Given the description of an element on the screen output the (x, y) to click on. 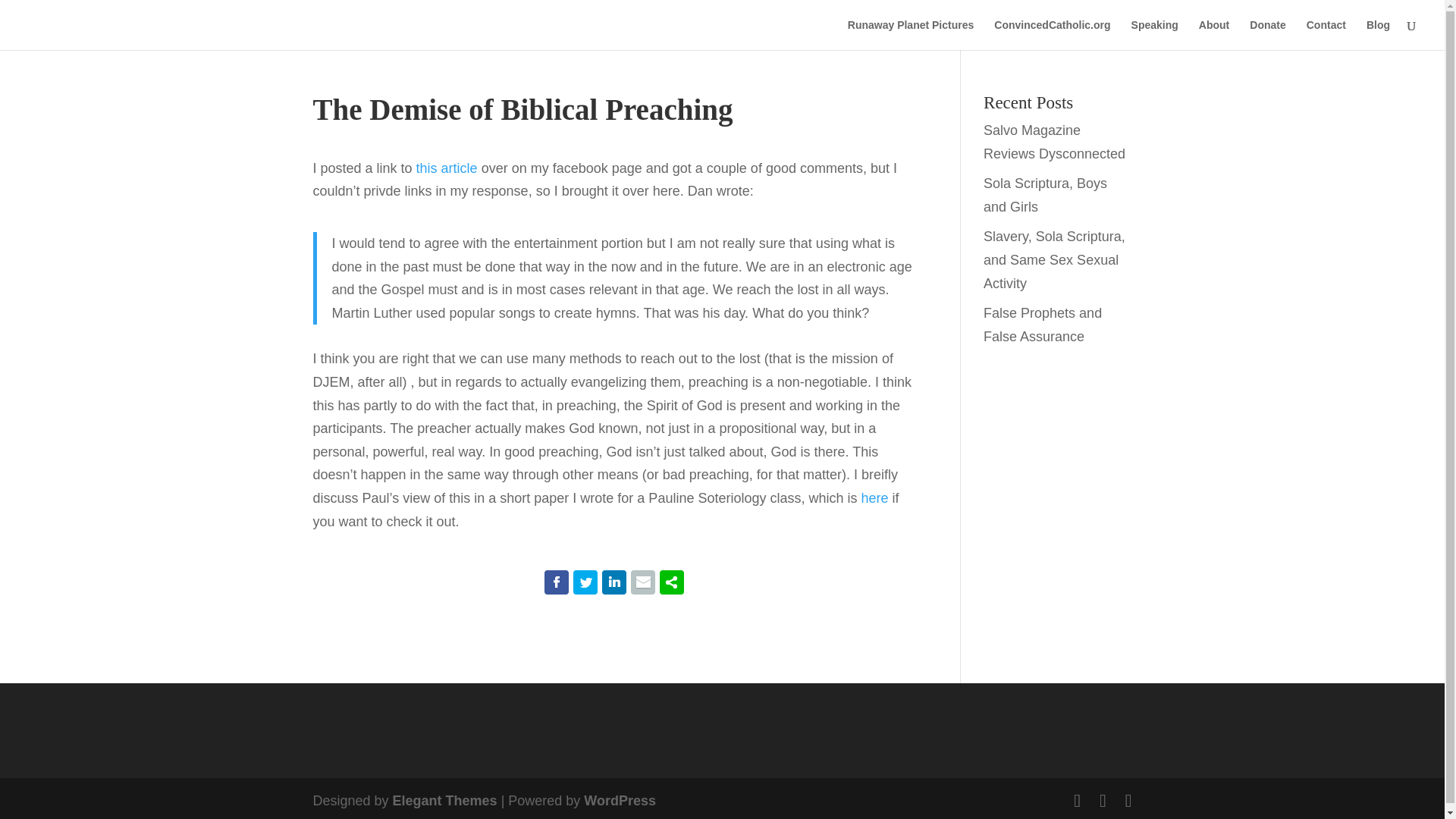
Salvo Magazine Reviews Dysconnected (1054, 141)
Elegant Themes (445, 800)
here (874, 498)
Runaway Planet Pictures (910, 34)
Contact (1325, 34)
WordPress (619, 800)
False Prophets and False Assurance (1043, 324)
About (1213, 34)
Sola Scriptura, Boys and Girls (1045, 195)
Donate (1267, 34)
Speaking (1154, 34)
ConvincedCatholic.org (1051, 34)
Slavery, Sola Scriptura, and Same Sex Sexual Activity (1054, 259)
this article (446, 168)
Premium WordPress Themes (445, 800)
